Given the description of an element on the screen output the (x, y) to click on. 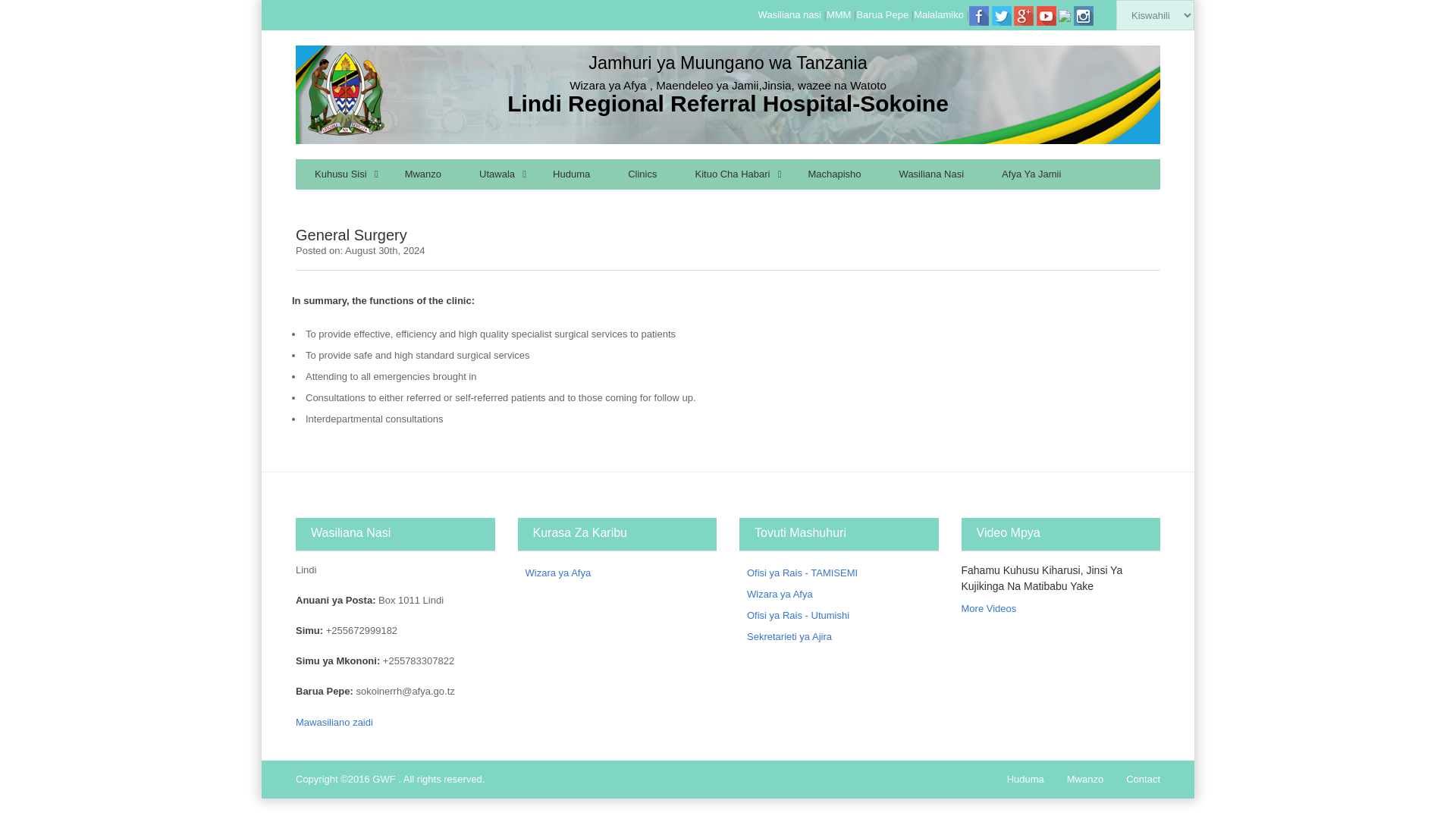
Malalamiko (938, 14)
Utawala (497, 173)
Barua Pepe (882, 14)
Kituo Cha Habari (732, 173)
Clinics (641, 173)
Huduma (571, 173)
MMM (839, 14)
Wasiliana nasi (789, 14)
Mwanzo (422, 173)
Kuhusu Sisi (340, 173)
